Given the description of an element on the screen output the (x, y) to click on. 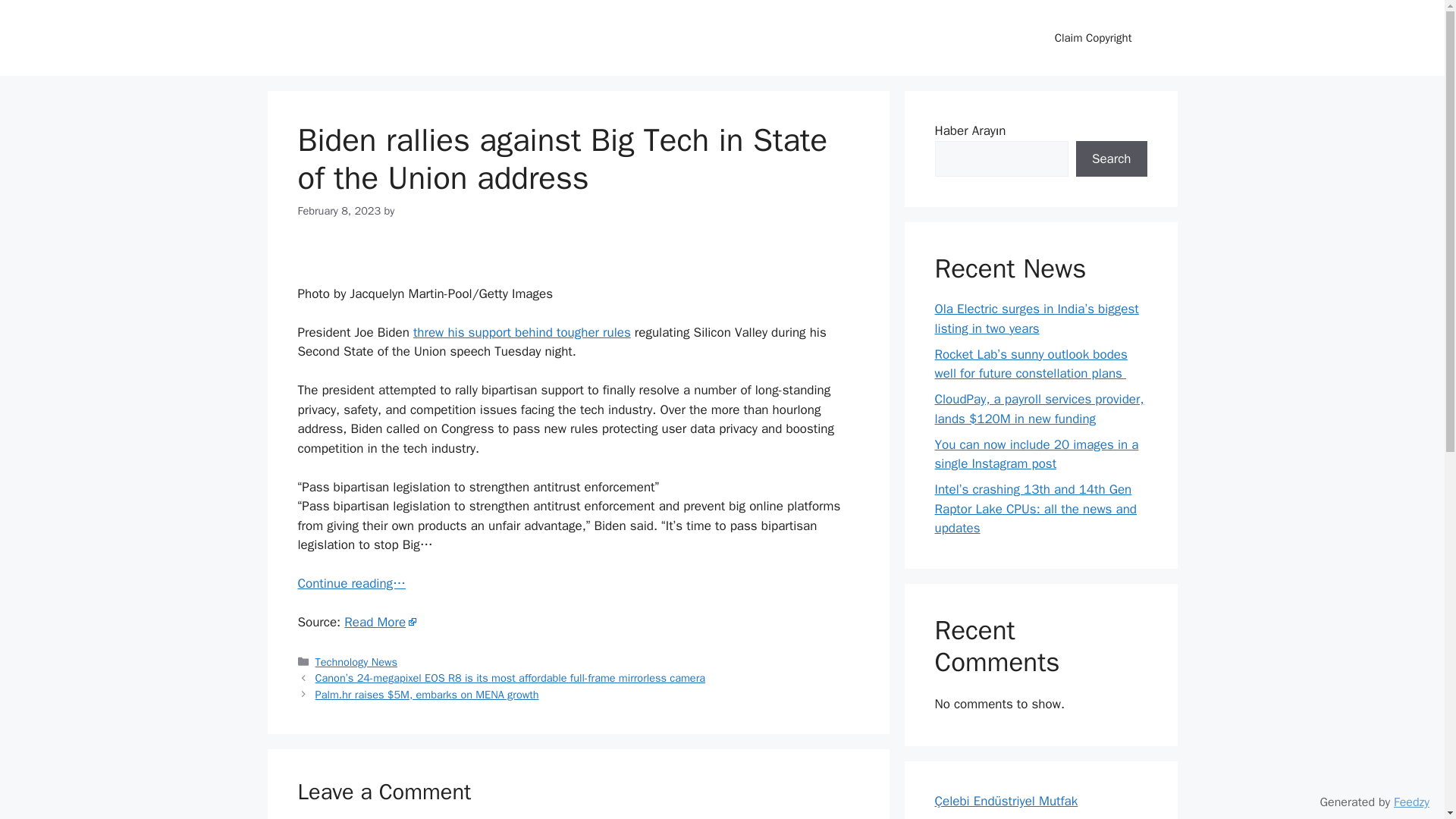
Technology News (356, 662)
Search (1111, 158)
Claim Copyright (1093, 37)
You can now include 20 images in a single Instagram post (1036, 454)
Read More (379, 621)
threw his support behind tougher rules (521, 332)
Feedzy (1411, 801)
